Given the description of an element on the screen output the (x, y) to click on. 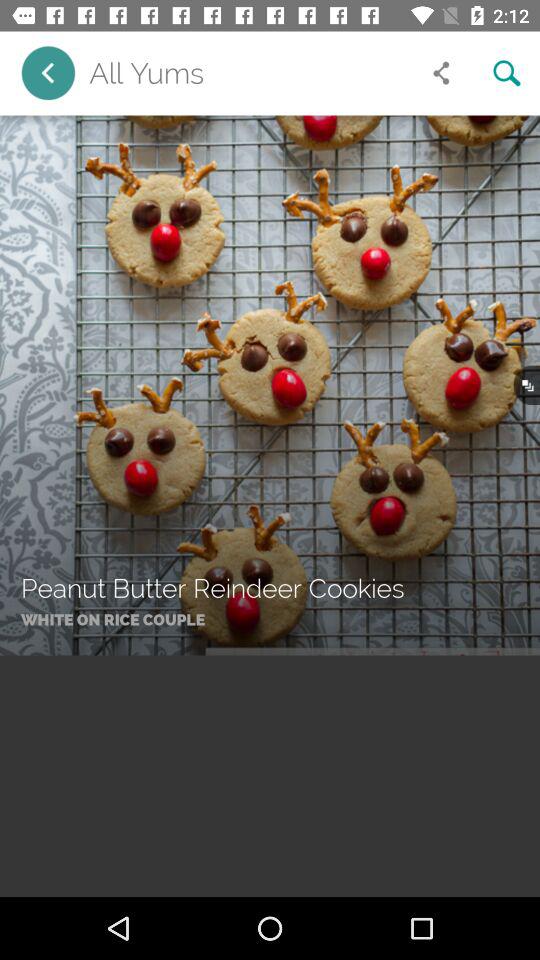
scroll to all yums item (248, 73)
